Given the description of an element on the screen output the (x, y) to click on. 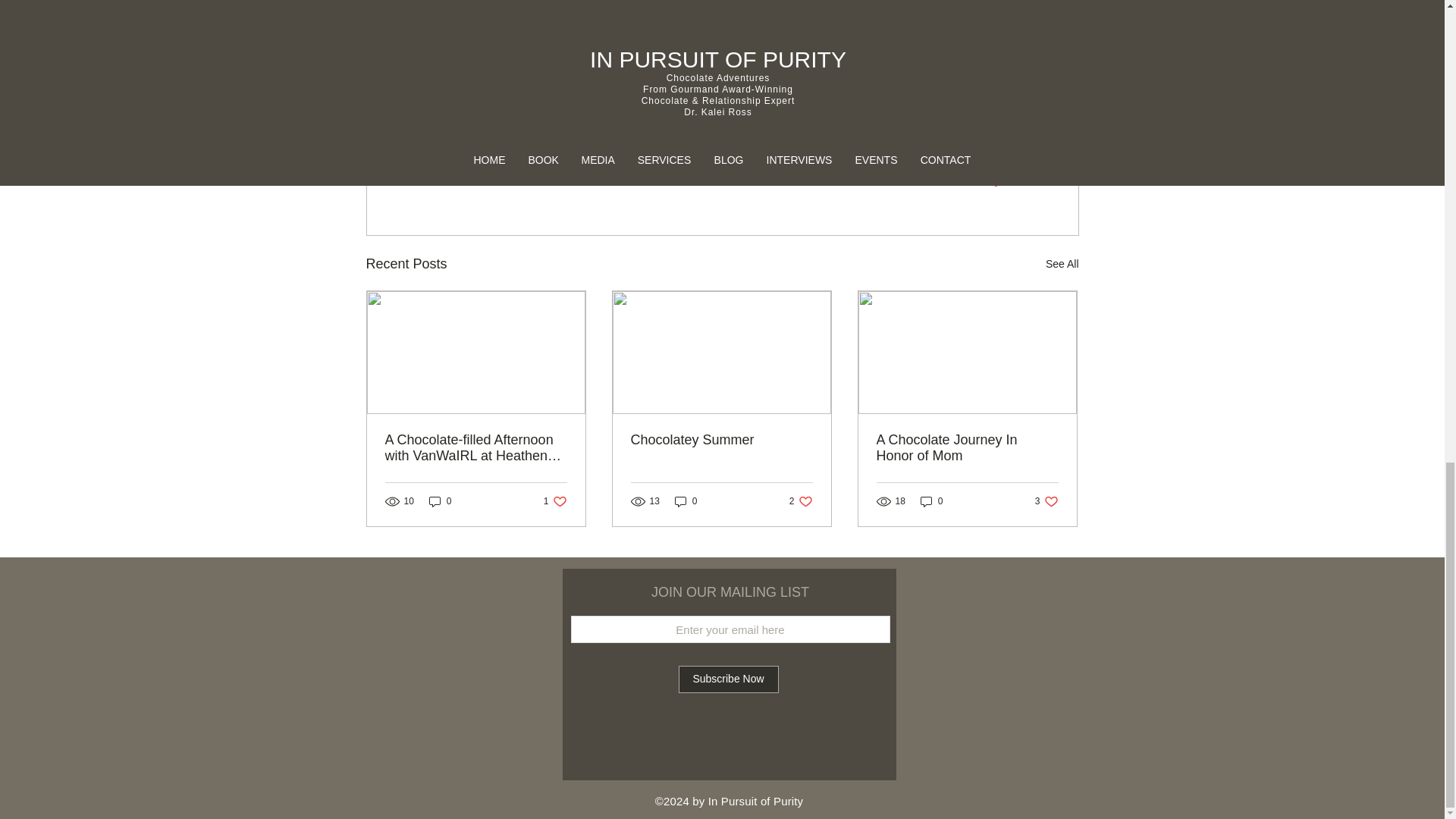
team building (482, 78)
Kalei Ross (547, 49)
team building event (711, 78)
team building activity (590, 78)
Creo (951, 49)
In Pursuit of Purity (642, 49)
chocolate (473, 49)
chocolateconnections (862, 49)
Creo Chocolate (747, 49)
